Given the description of an element on the screen output the (x, y) to click on. 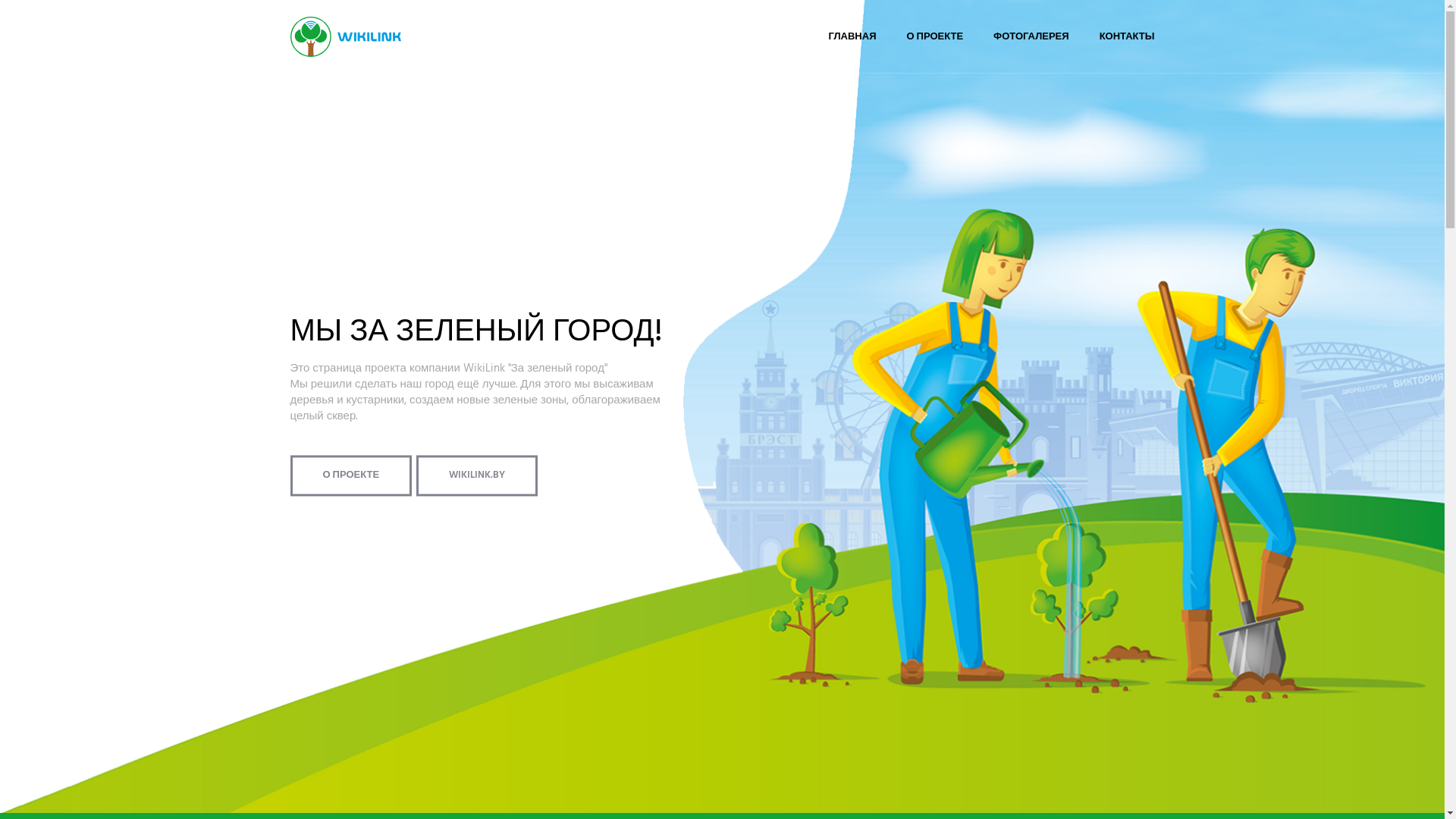
WIKILINK.BY Element type: text (476, 475)
